Given the description of an element on the screen output the (x, y) to click on. 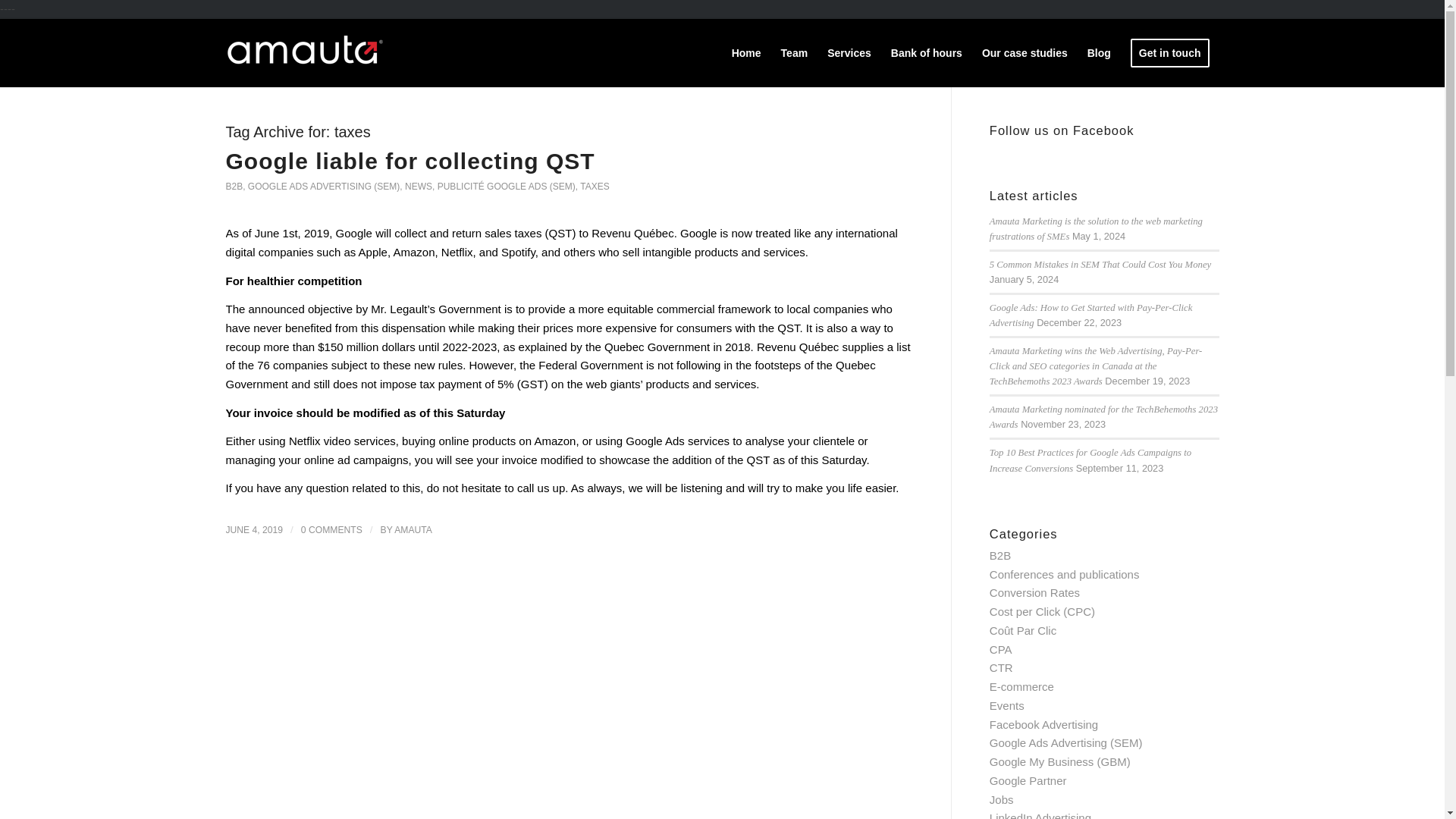
B2B (234, 185)
Google liable for collecting QST (410, 160)
NEWS (418, 185)
Permanent Link: Google liable for collecting QST (410, 160)
TAXES (593, 185)
Posts by amauta (413, 529)
Bank of hours (926, 52)
Services (848, 52)
AMAUTA (413, 529)
0 COMMENTS (331, 529)
Get in touch (1170, 52)
logo-amauta-white-v8 (305, 47)
Our case studies (1024, 52)
